Given the description of an element on the screen output the (x, y) to click on. 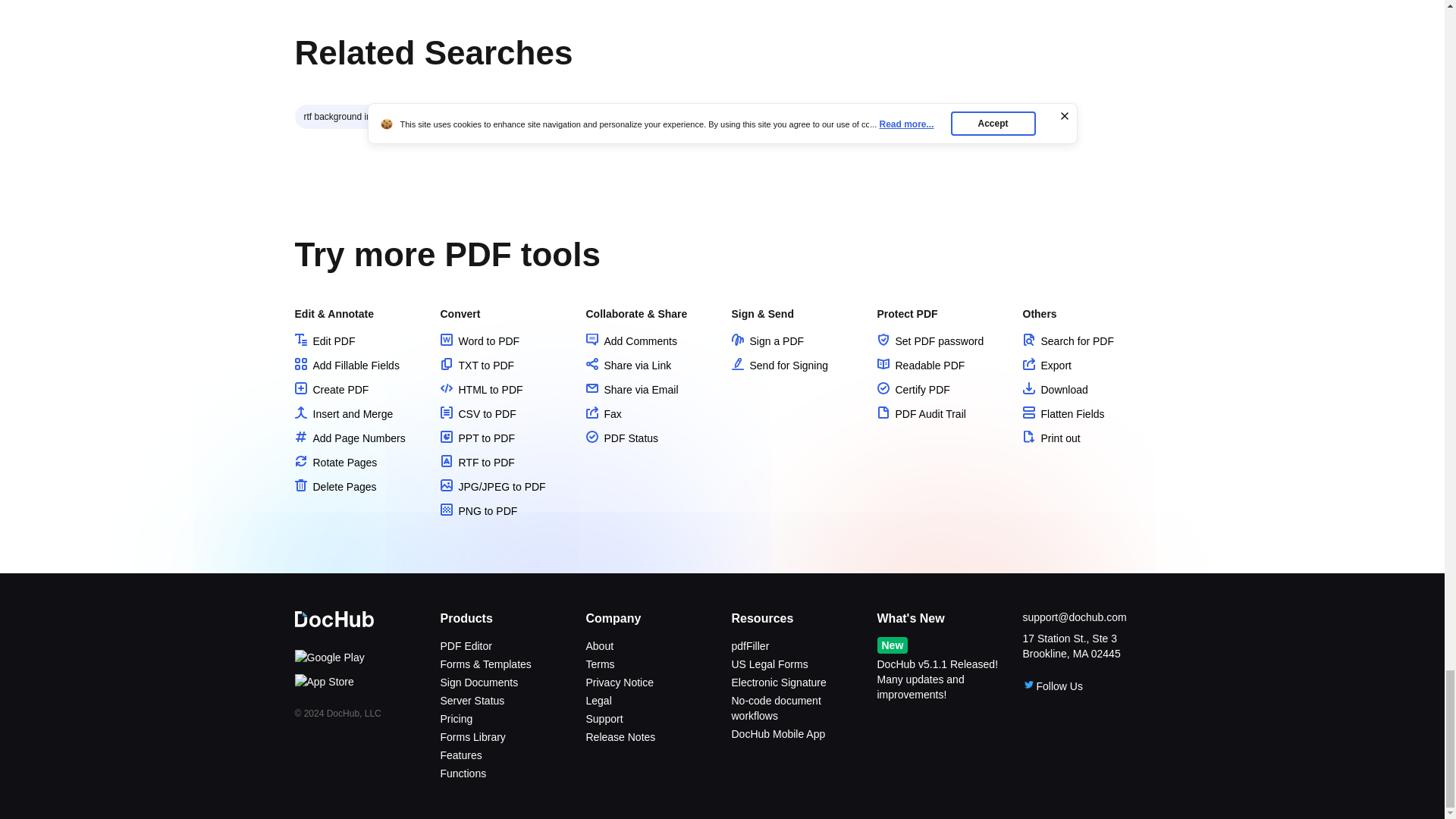
Add Page Numbers (349, 438)
HTML to PDF (480, 389)
Create PDF (331, 389)
Rotate Pages (335, 462)
TXT to PDF (476, 365)
Add Fillable Fields (346, 365)
Fax (603, 413)
RTF to PDF (476, 462)
Delete Pages (334, 486)
Insert and Merge (343, 413)
Word to PDF (479, 340)
CSV to PDF (477, 413)
Share via Link (628, 365)
PPT to PDF (476, 438)
Edit PDF (324, 340)
